Given the description of an element on the screen output the (x, y) to click on. 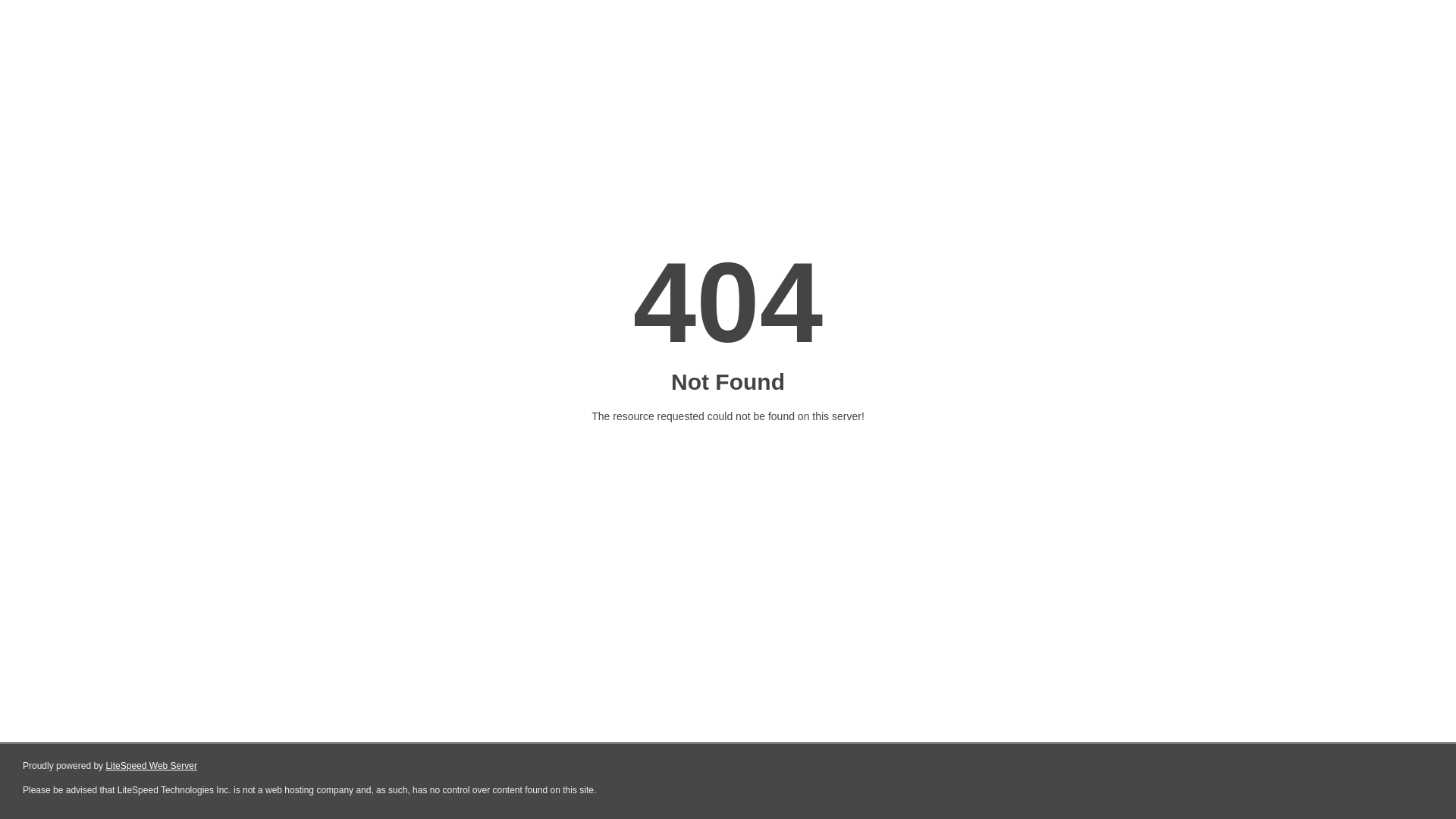
LiteSpeed Web Server Element type: text (151, 765)
